Given the description of an element on the screen output the (x, y) to click on. 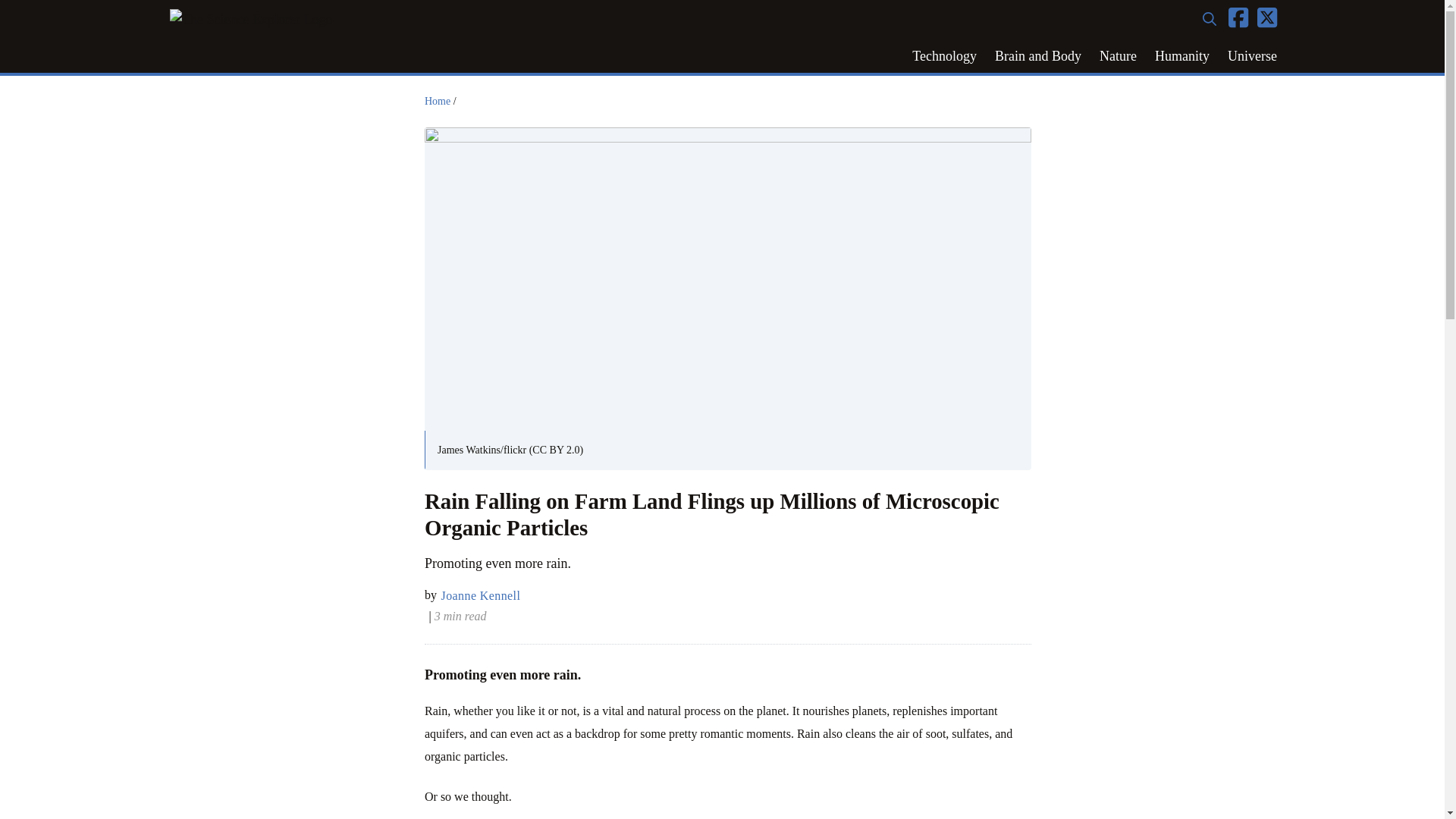
Humanity (1181, 55)
Home (437, 101)
Universe (1251, 55)
Nature (1117, 55)
Brain and Body (1037, 55)
Technology (943, 55)
